Given the description of an element on the screen output the (x, y) to click on. 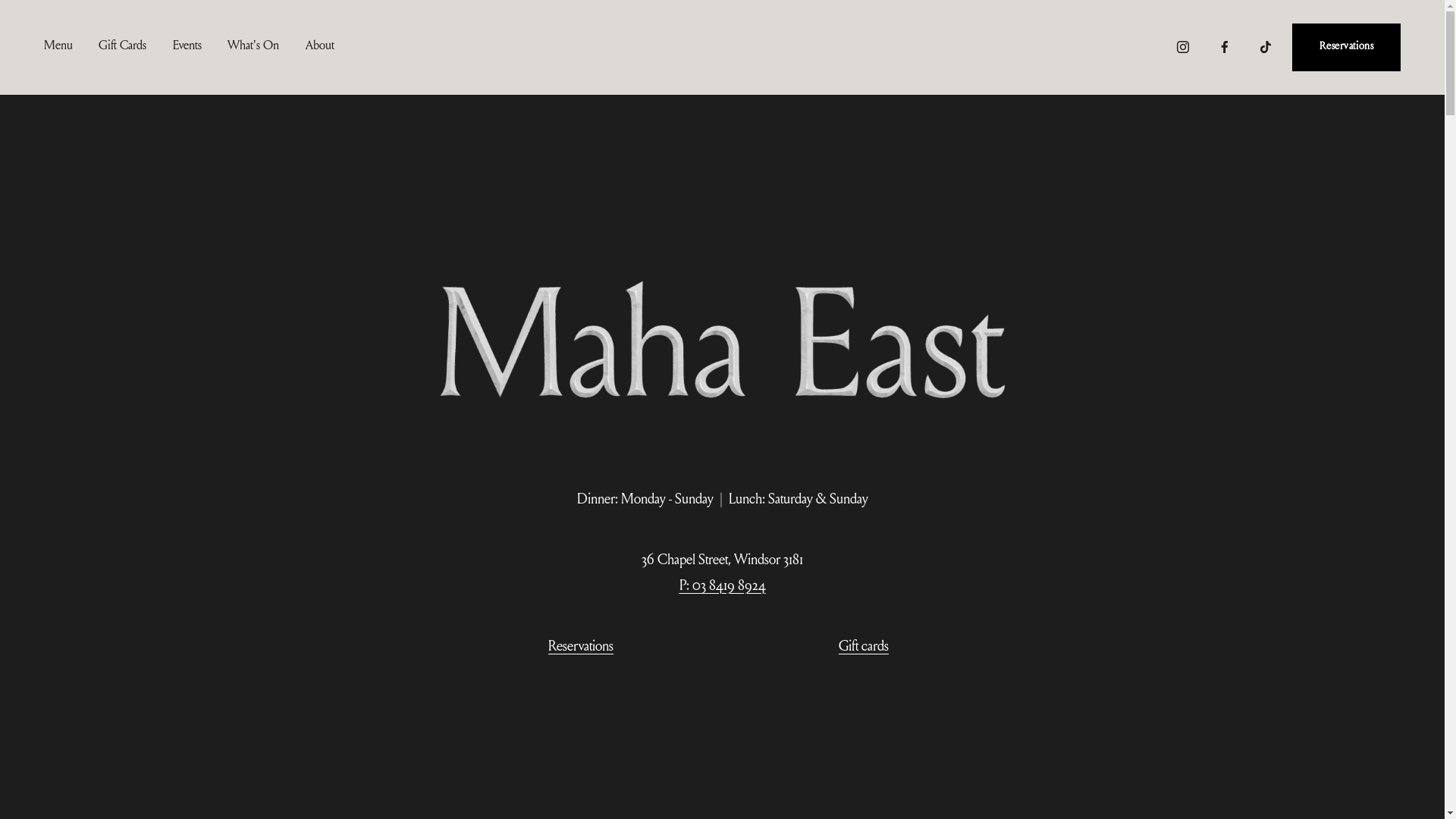
Reservations Element type: text (1346, 47)
Menu Element type: text (57, 47)
P: 03 8419 8924 Element type: text (722, 586)
Gift Cards Element type: text (122, 47)
Gift cards Element type: text (863, 647)
What's On Element type: text (253, 47)
Reservations Element type: text (580, 647)
About Element type: text (319, 47)
Events Element type: text (186, 47)
